Given the description of an element on the screen output the (x, y) to click on. 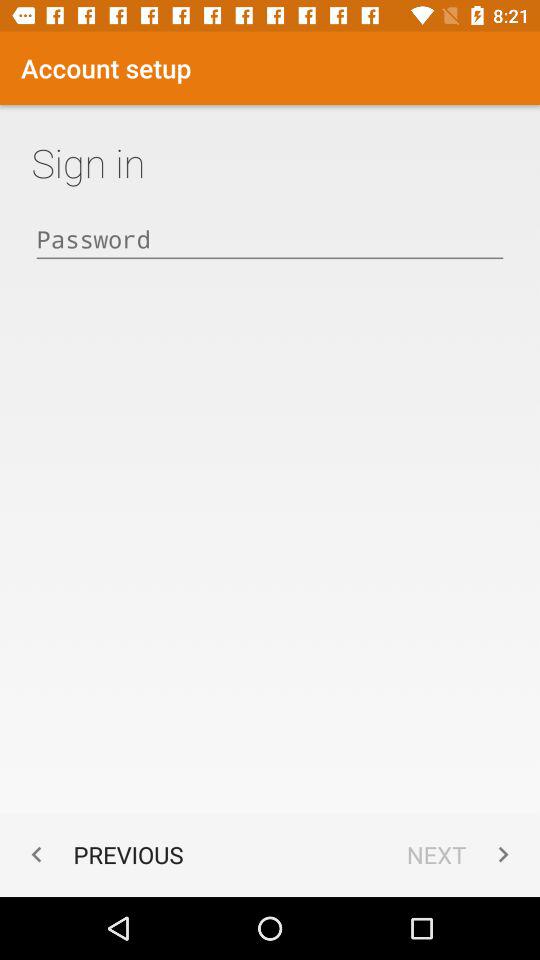
choose the next item (462, 854)
